Given the description of an element on the screen output the (x, y) to click on. 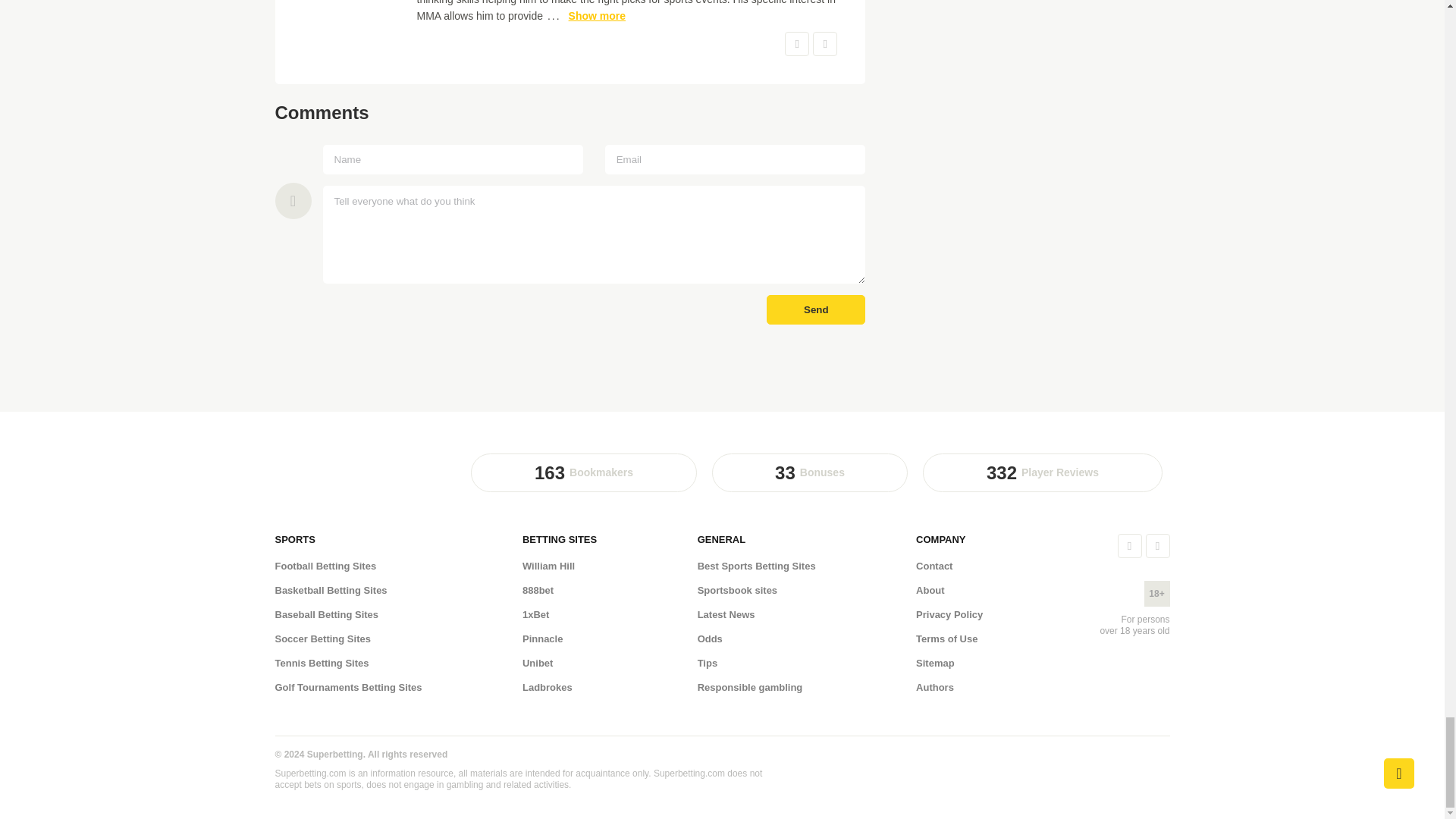
Send (815, 309)
Sportbet (324, 495)
